Given the description of an element on the screen output the (x, y) to click on. 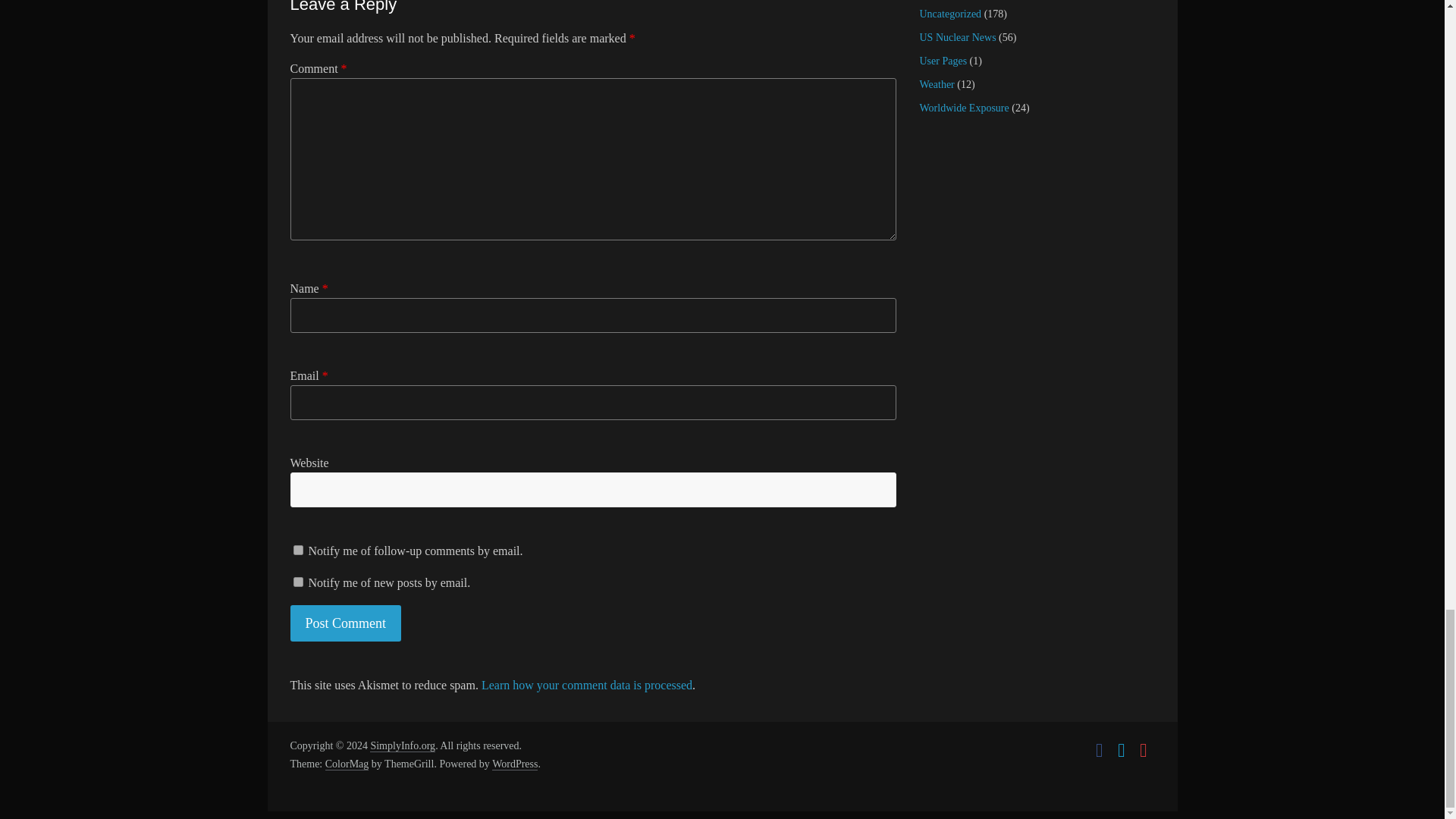
Post Comment (345, 623)
subscribe (297, 582)
subscribe (297, 550)
